Given the description of an element on the screen output the (x, y) to click on. 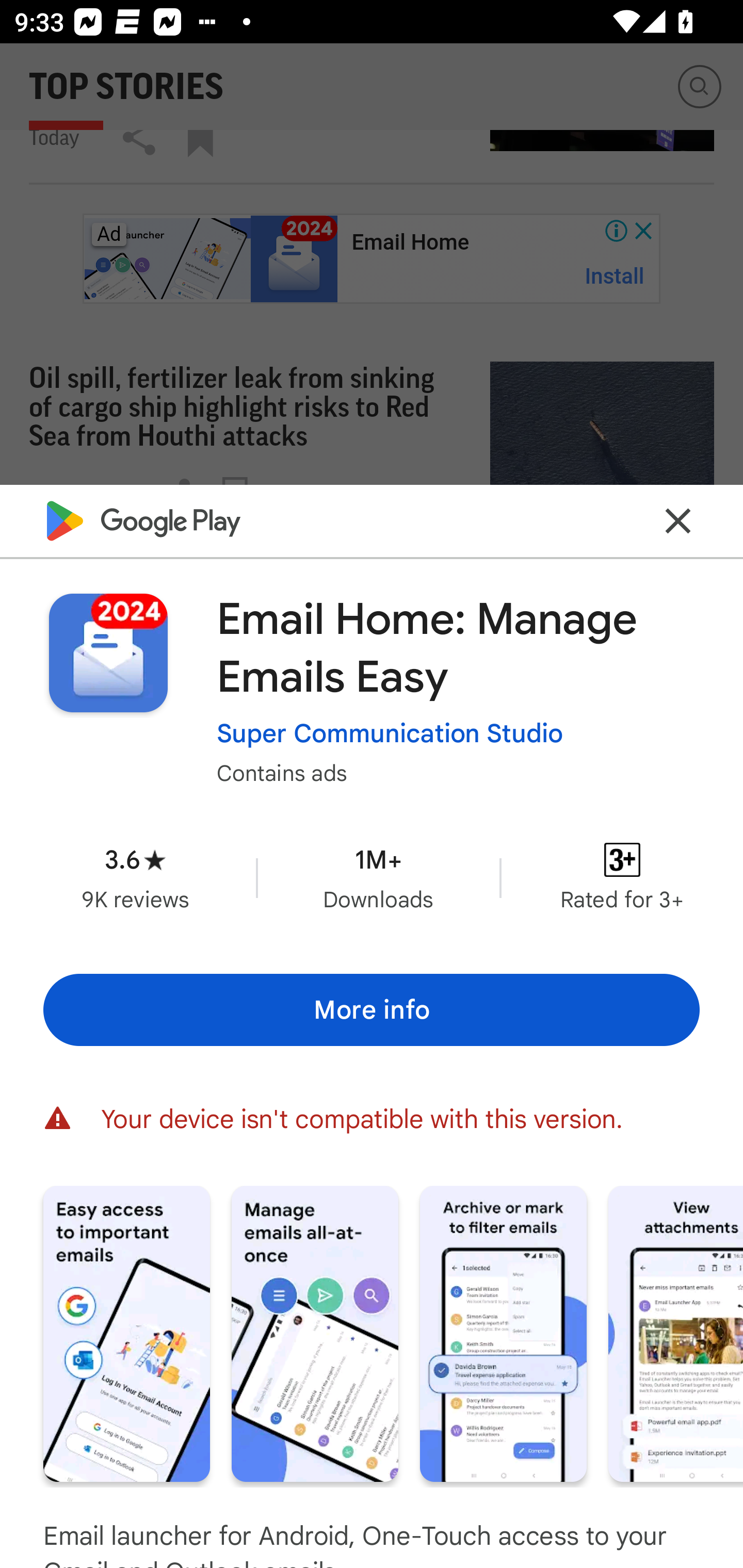
Close (677, 520)
Super Communication Studio (389, 732)
More info (371, 1009)
Screenshot "1" of "6" (126, 1333)
Screenshot "2" of "6" (314, 1333)
Screenshot "3" of "6" (502, 1333)
Screenshot "4" of "6" (675, 1333)
